Given the description of an element on the screen output the (x, y) to click on. 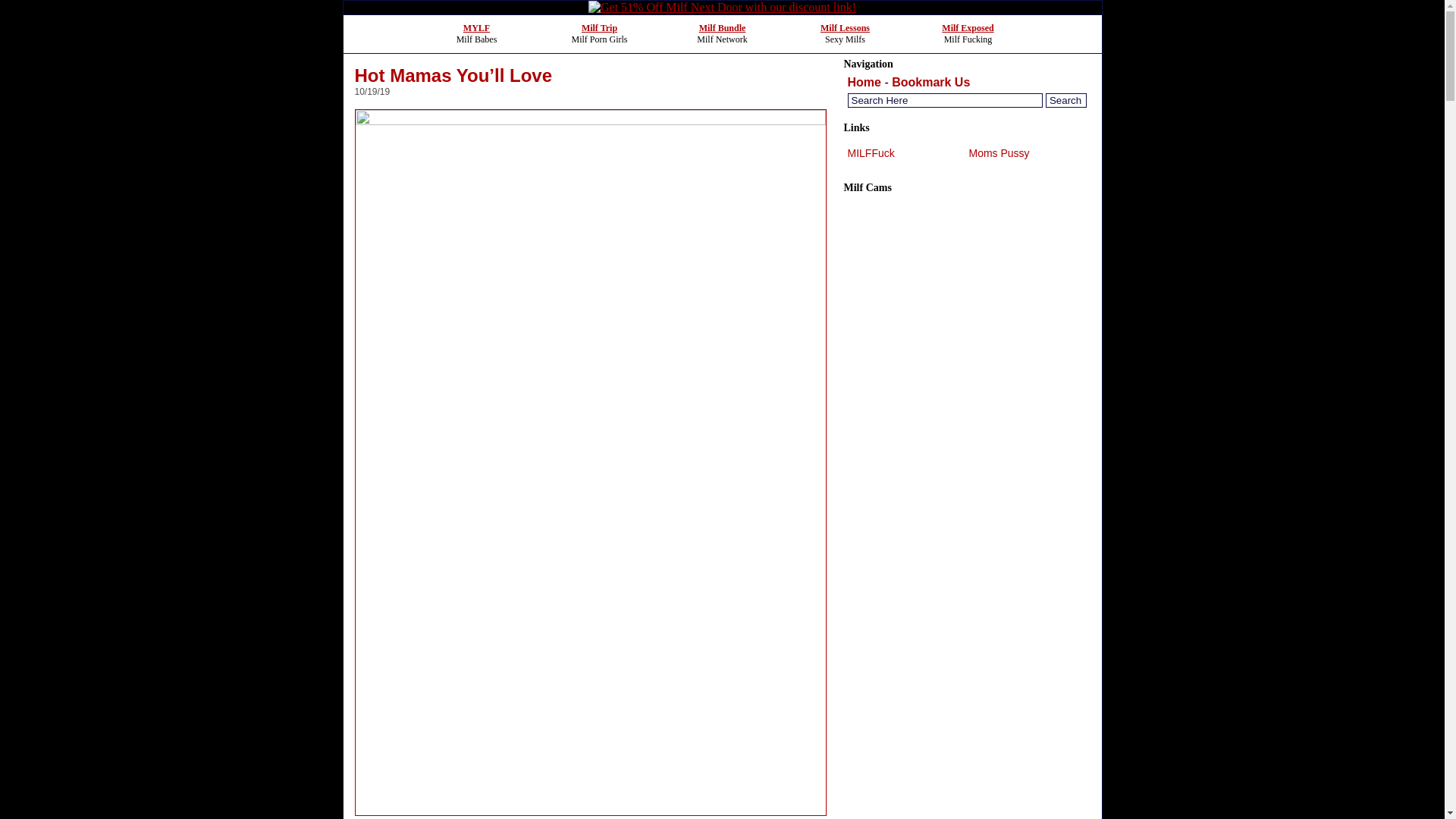
Milf Bundle (721, 27)
Milf Trip (598, 27)
Search (1065, 100)
Milf Exposed (967, 27)
Milf Lessons (845, 27)
Milf Bundle (721, 27)
MYLF (476, 27)
Search Here (944, 100)
Milf Lessons (845, 27)
Milf Exposed (967, 27)
Milf Trip (598, 27)
MYLF (476, 27)
